Given the description of an element on the screen output the (x, y) to click on. 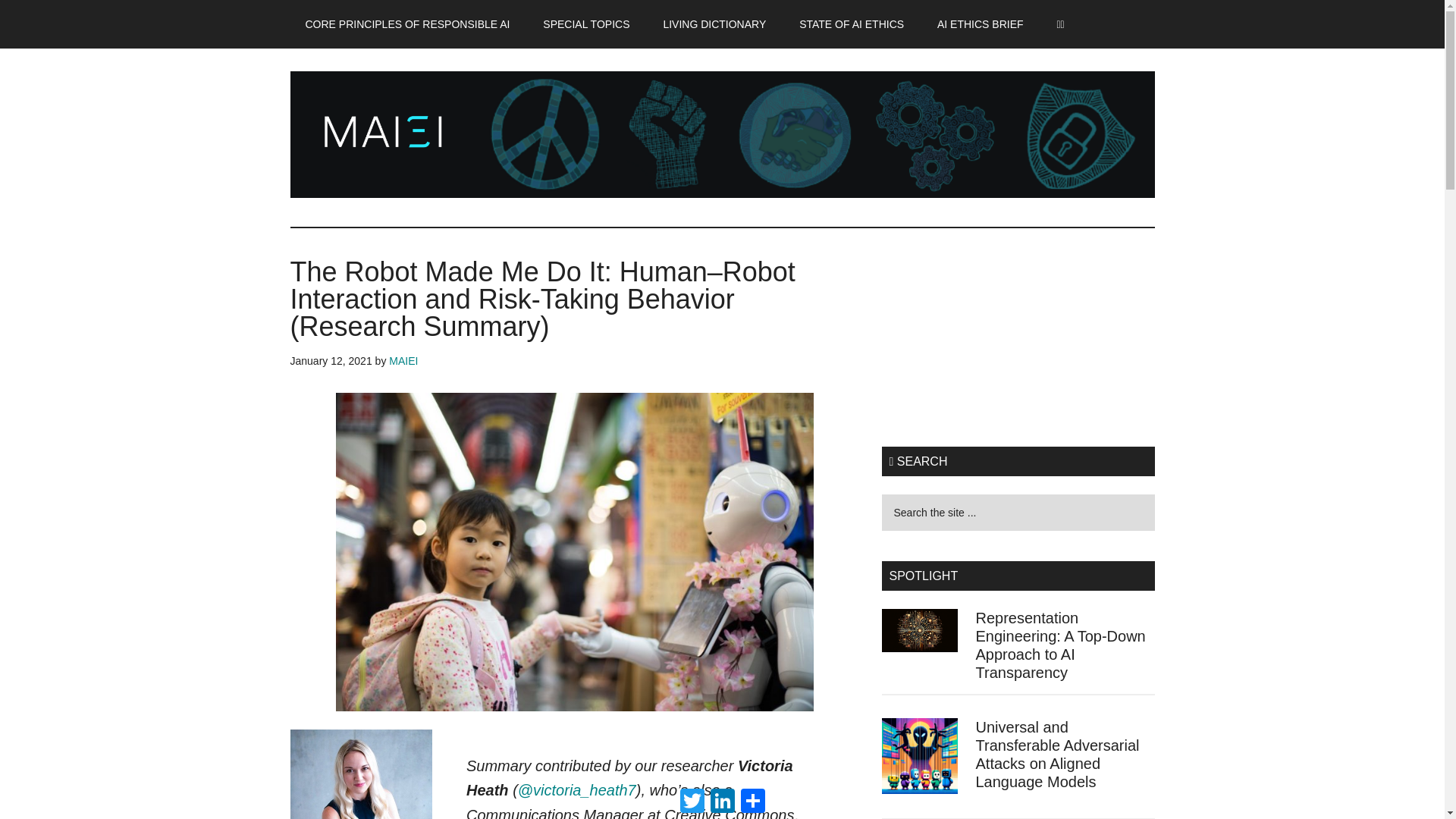
Twitter (691, 800)
STATE OF AI ETHICS (851, 24)
SPECIAL TOPICS (586, 24)
MAIEI (402, 360)
AI ETHICS BRIEF (980, 24)
LIVING DICTIONARY (713, 24)
